Given the description of an element on the screen output the (x, y) to click on. 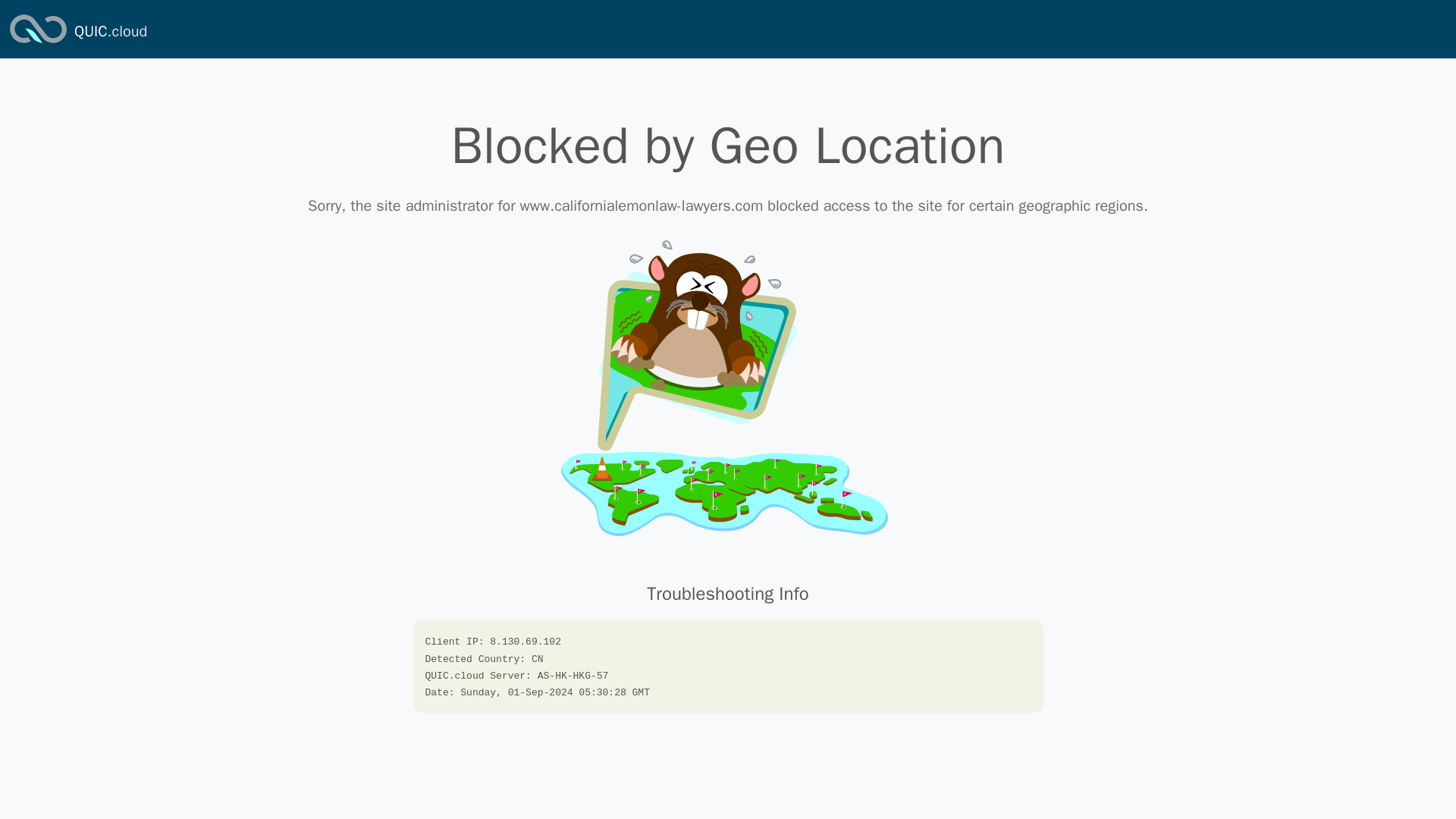
QUIC.cloud (37, 43)
QUIC.cloud (110, 31)
QUIC.cloud (110, 31)
